Given the description of an element on the screen output the (x, y) to click on. 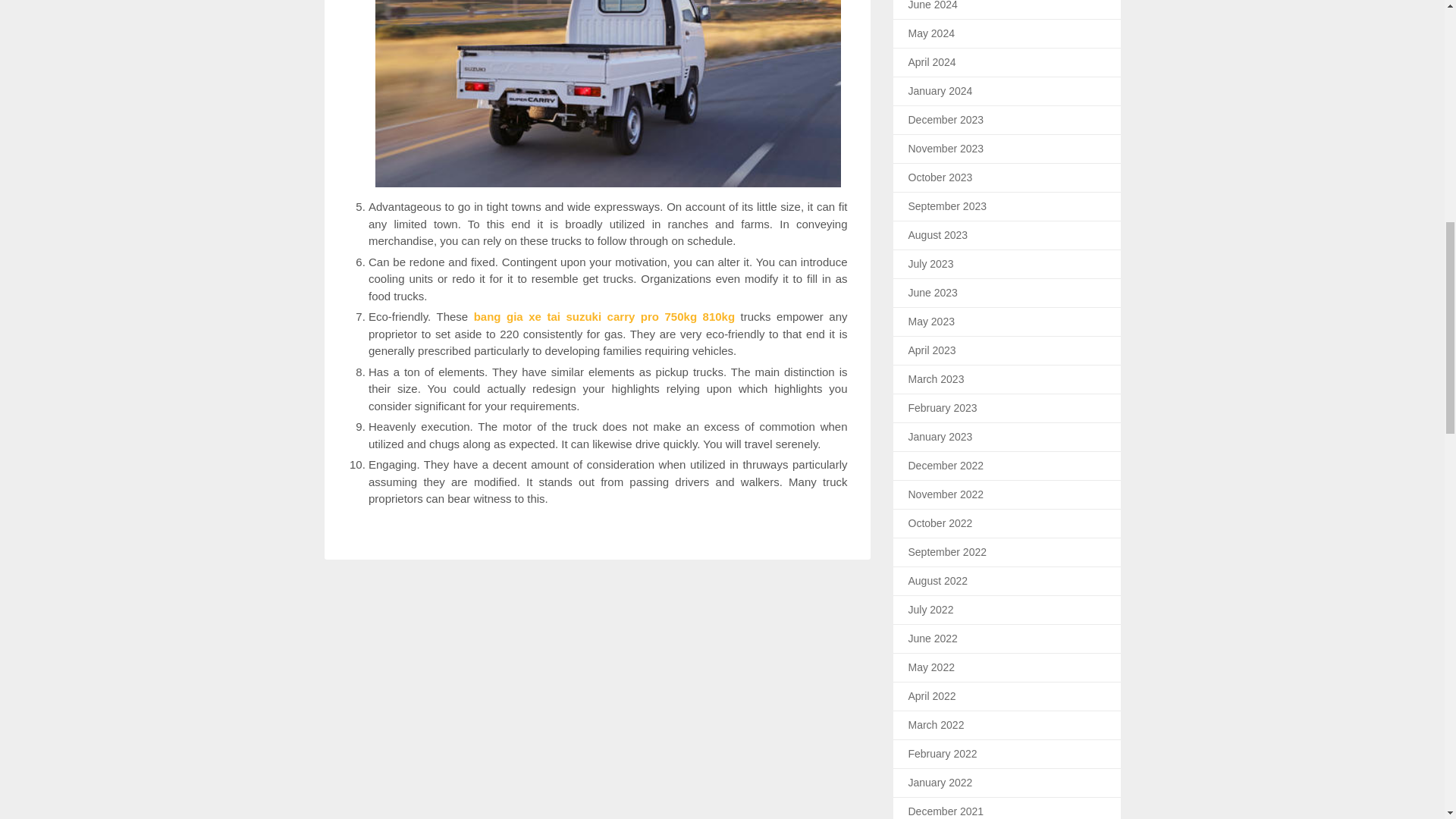
April 2023 (932, 349)
April 2024 (932, 61)
June 2023 (933, 292)
August 2023 (938, 234)
February 2023 (942, 408)
July 2023 (930, 263)
May 2022 (931, 666)
May 2023 (931, 321)
November 2023 (946, 148)
July 2022 (930, 609)
September 2023 (947, 205)
September 2022 (947, 551)
November 2022 (946, 494)
December 2022 (946, 465)
June 2024 (933, 5)
